Given the description of an element on the screen output the (x, y) to click on. 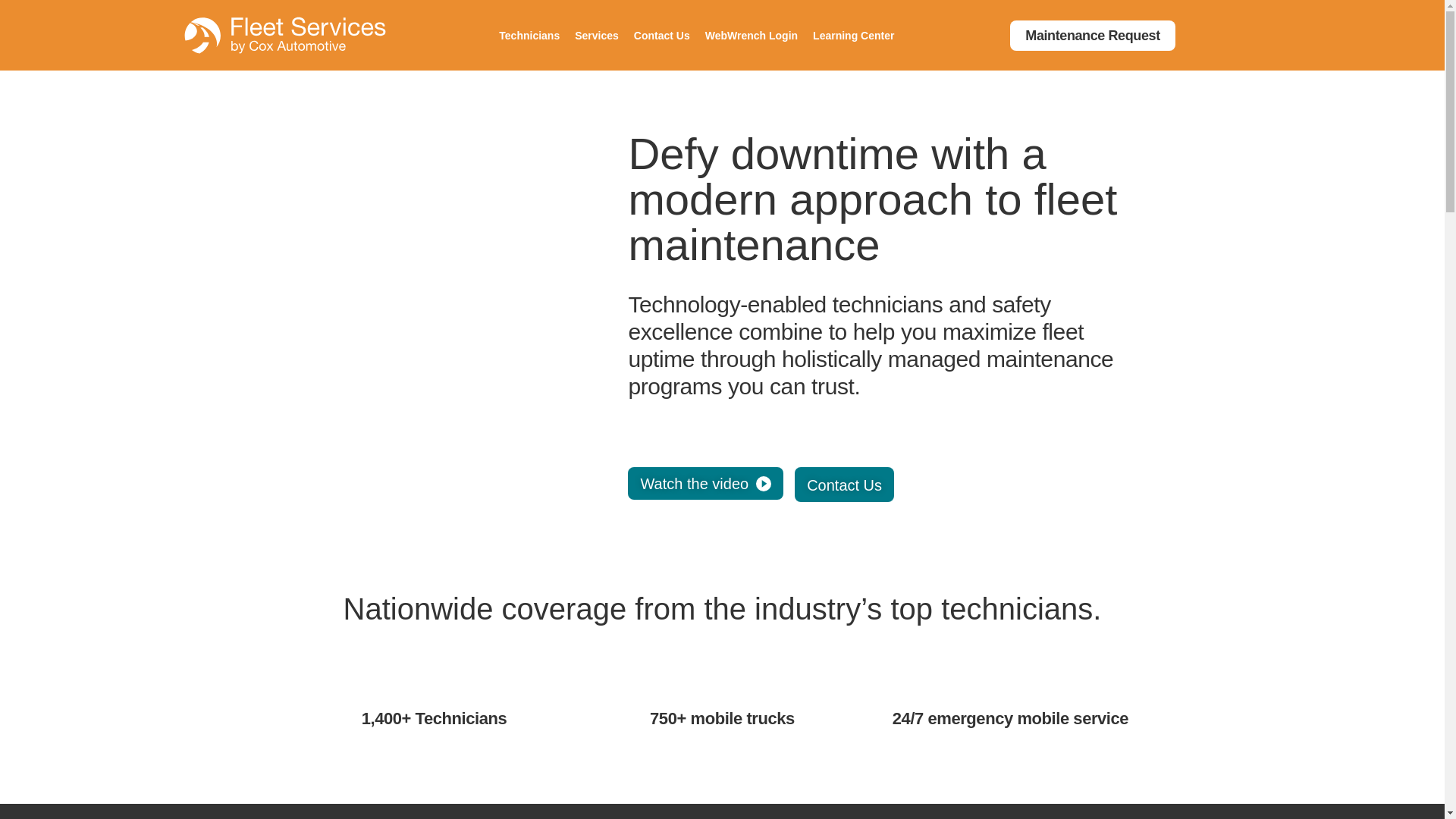
Services (596, 35)
Learning Center (852, 35)
WebWrench Login (750, 35)
Maintenance Request (1092, 34)
Contact Us (661, 35)
Technicians (529, 35)
